Given the description of an element on the screen output the (x, y) to click on. 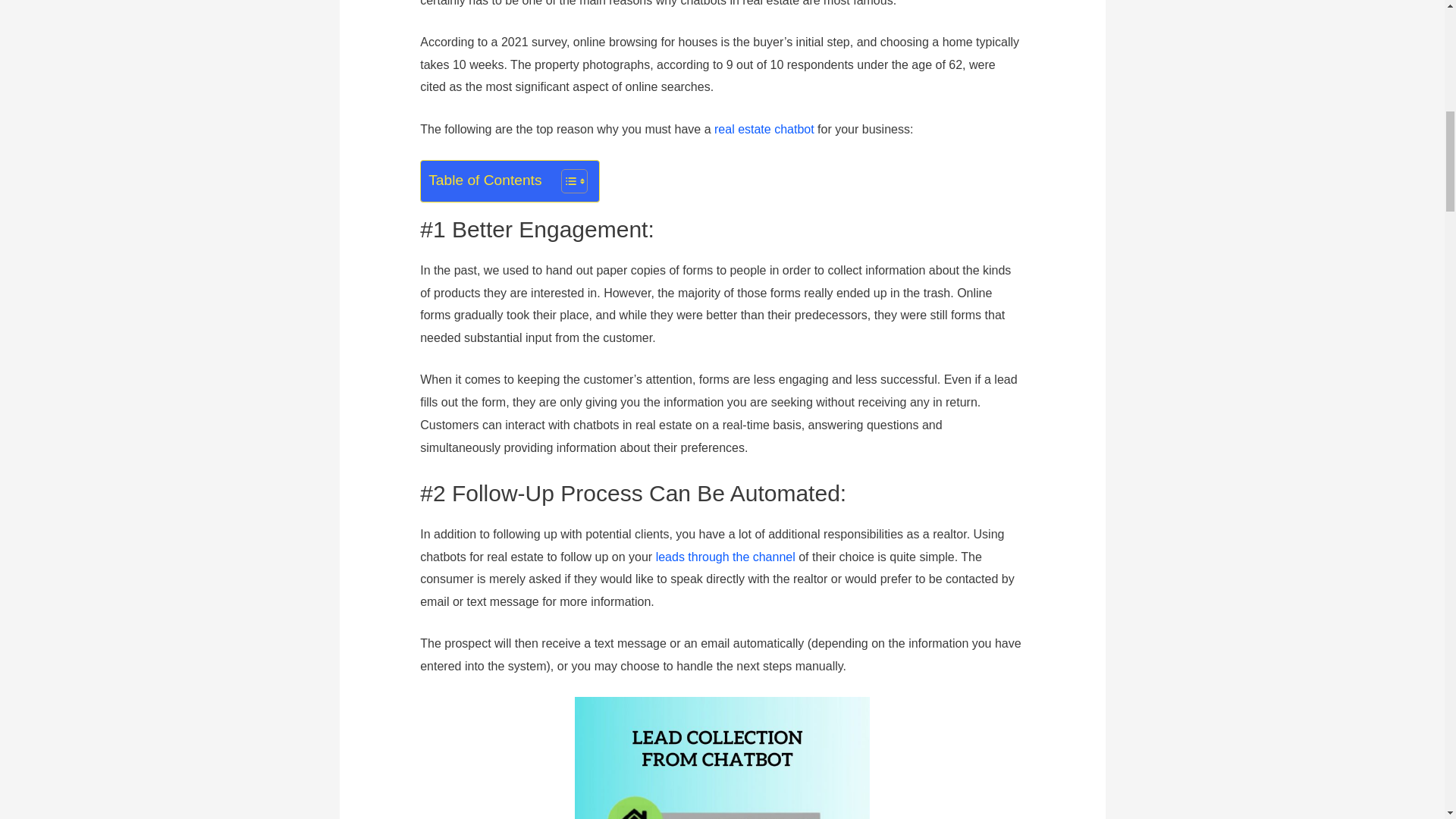
real estate chatbot (763, 128)
